Given the description of an element on the screen output the (x, y) to click on. 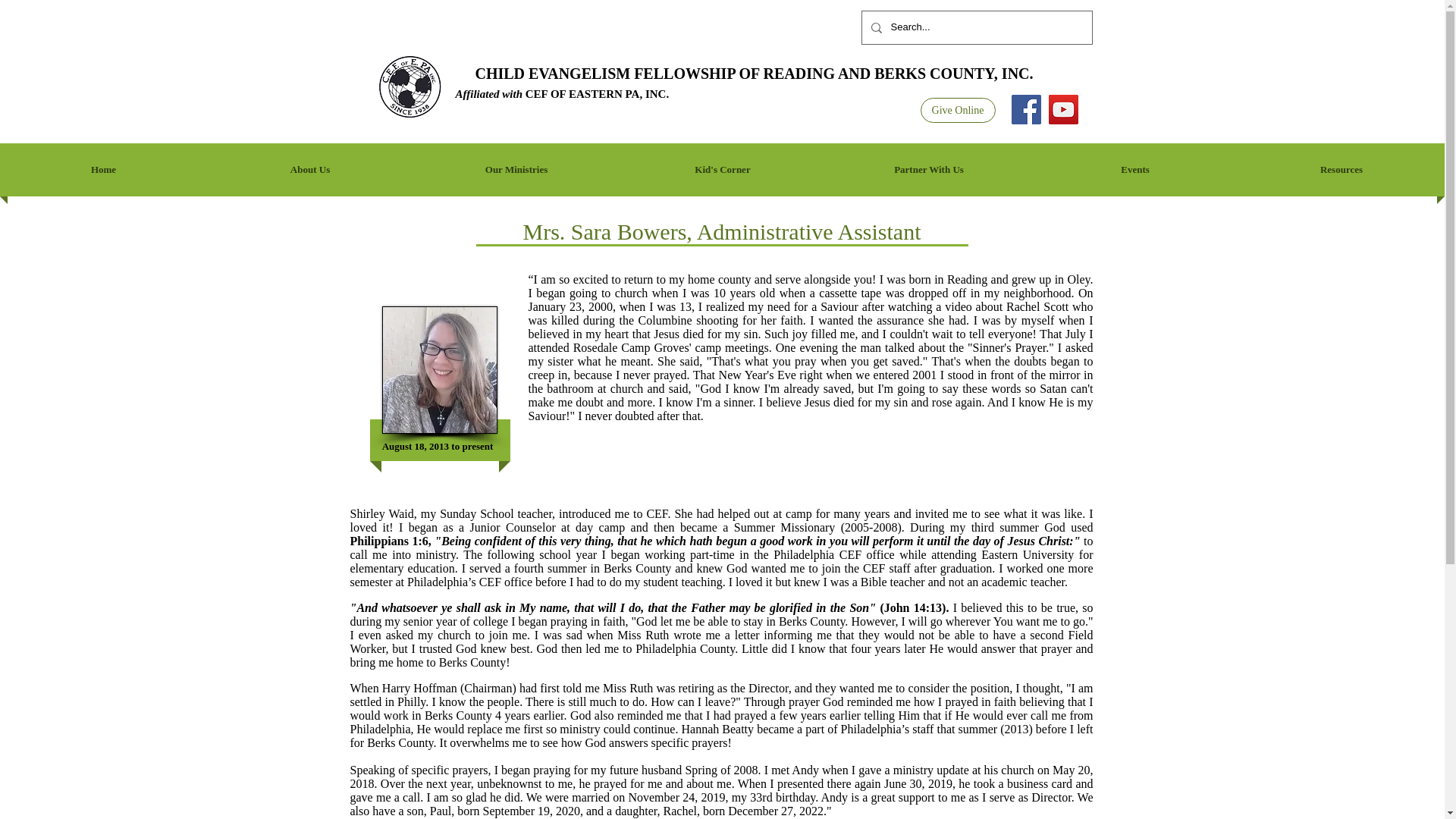
About Us (309, 169)
Our Ministries (516, 169)
Events (1135, 169)
Kid's Corner (722, 169)
Home (103, 169)
Partner With Us (928, 169)
Give Online (957, 109)
